Given the description of an element on the screen output the (x, y) to click on. 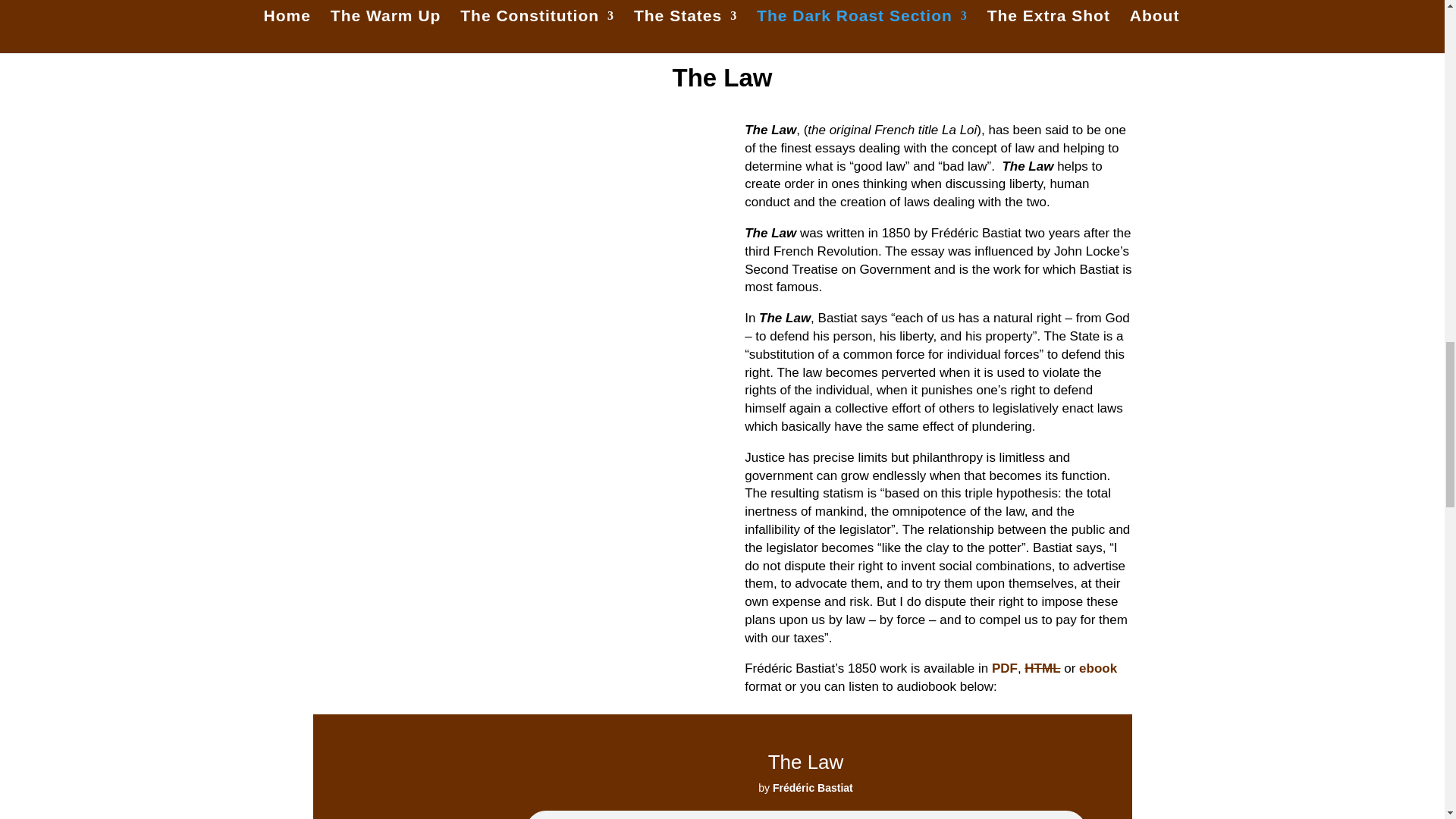
PDF (1004, 667)
ebook (1097, 667)
HTML (1042, 667)
Flourish 4 (722, 36)
